Given the description of an element on the screen output the (x, y) to click on. 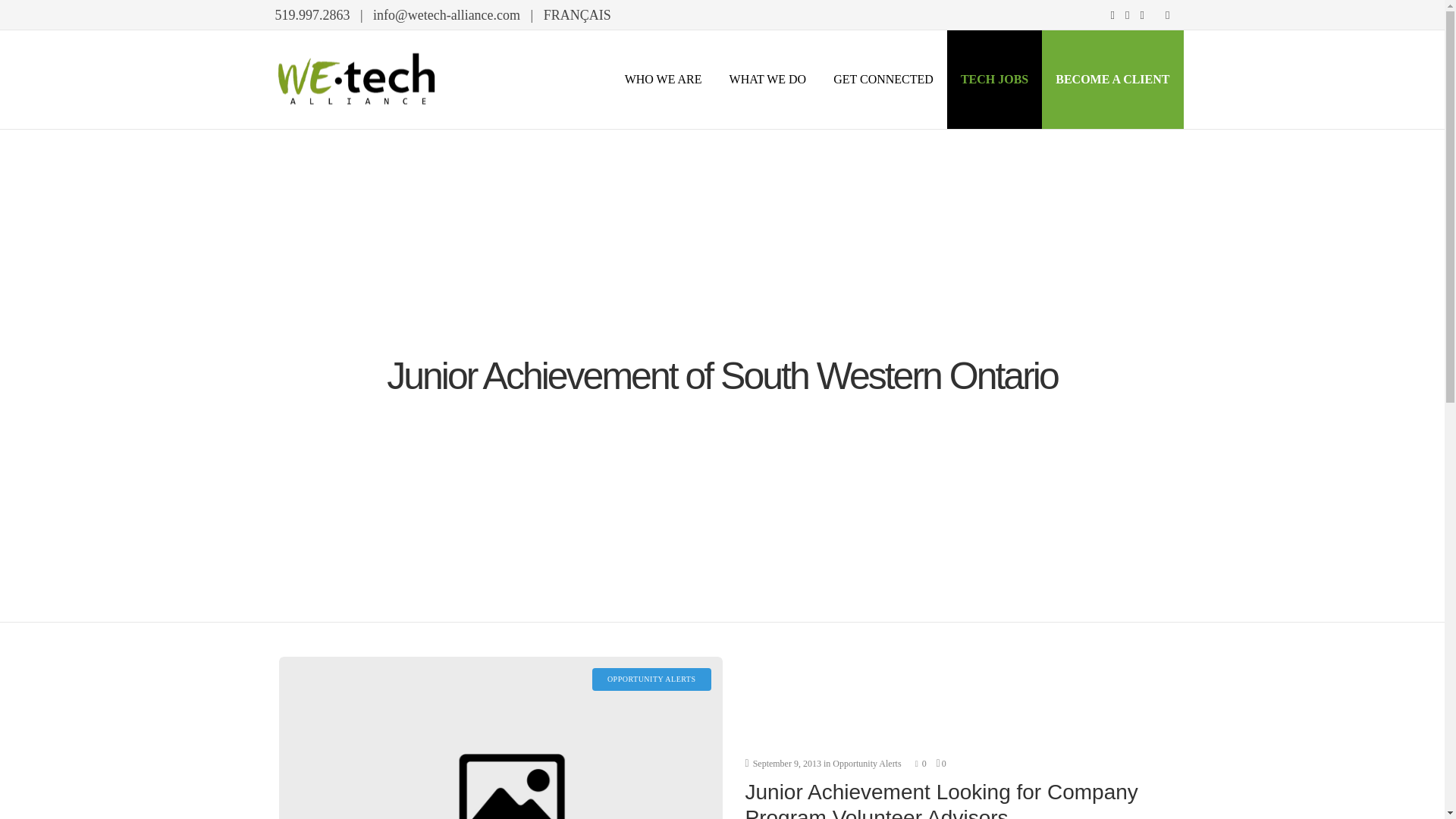
LinkedIN (1142, 15)
Instagram (1126, 15)
Facebook (1112, 15)
YouTube (1167, 15)
Site logo (357, 78)
